Given the description of an element on the screen output the (x, y) to click on. 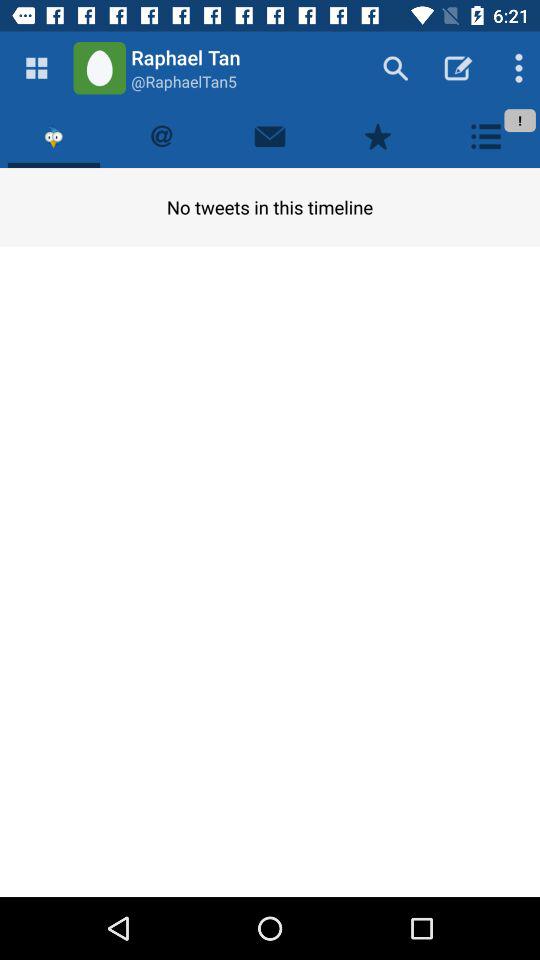
open the item above the no tweets in (378, 136)
